Given the description of an element on the screen output the (x, y) to click on. 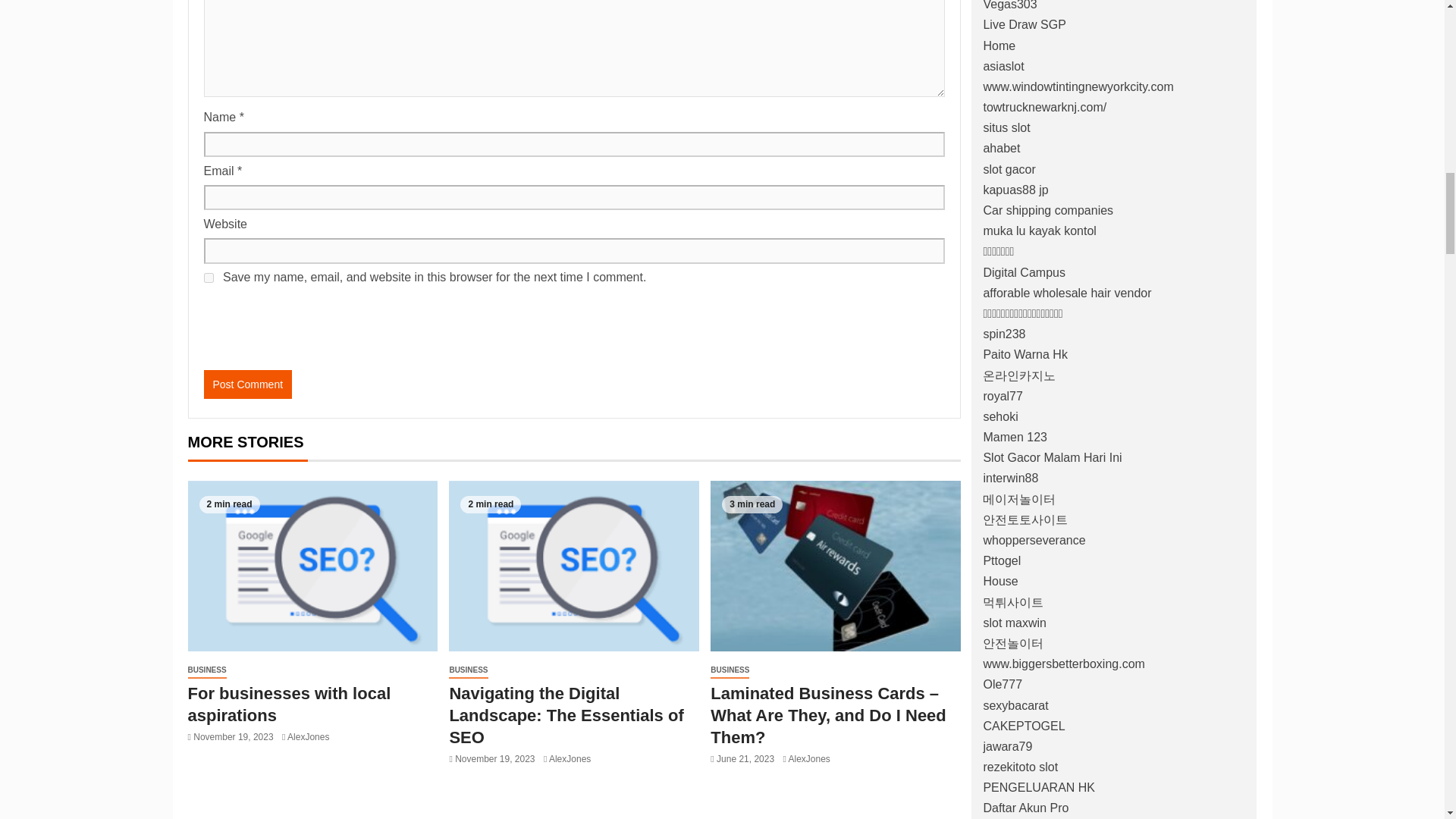
Post Comment (247, 384)
BUSINESS (207, 670)
yes (207, 277)
For businesses with local aspirations (289, 703)
AlexJones (307, 737)
Post Comment (247, 384)
reCAPTCHA (318, 327)
